Given the description of an element on the screen output the (x, y) to click on. 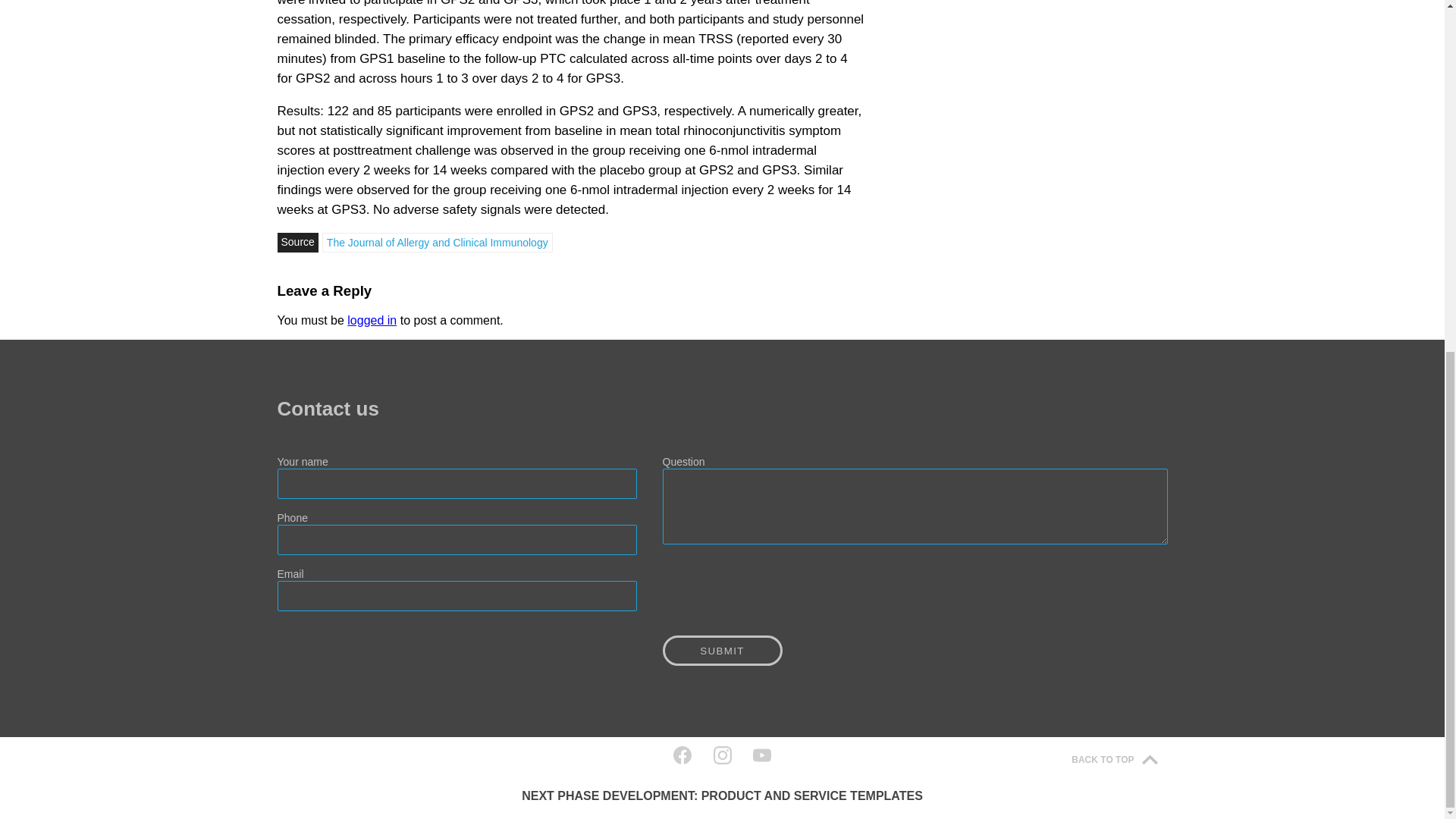
Submit (722, 650)
